Given the description of an element on the screen output the (x, y) to click on. 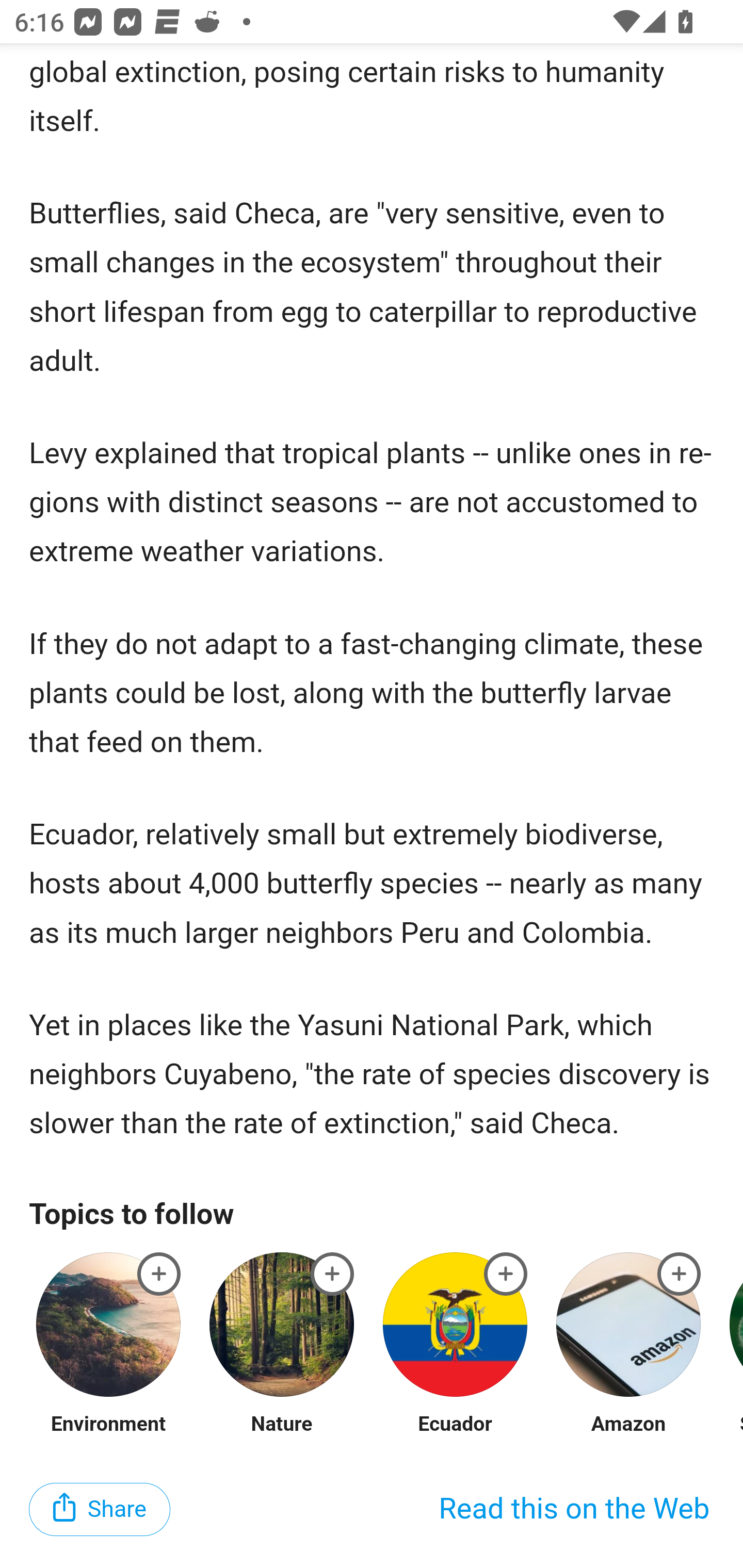
1157025764906664056 (159, 1275)
1157025764906664056 (332, 1275)
1157025764906664056 (505, 1275)
1157025764906664056 (679, 1275)
Environment (108, 1425)
Nature (281, 1425)
Ecuador (454, 1425)
Amazon (627, 1425)
Read this on the Web (573, 1509)
Share (99, 1509)
